Given the description of an element on the screen output the (x, y) to click on. 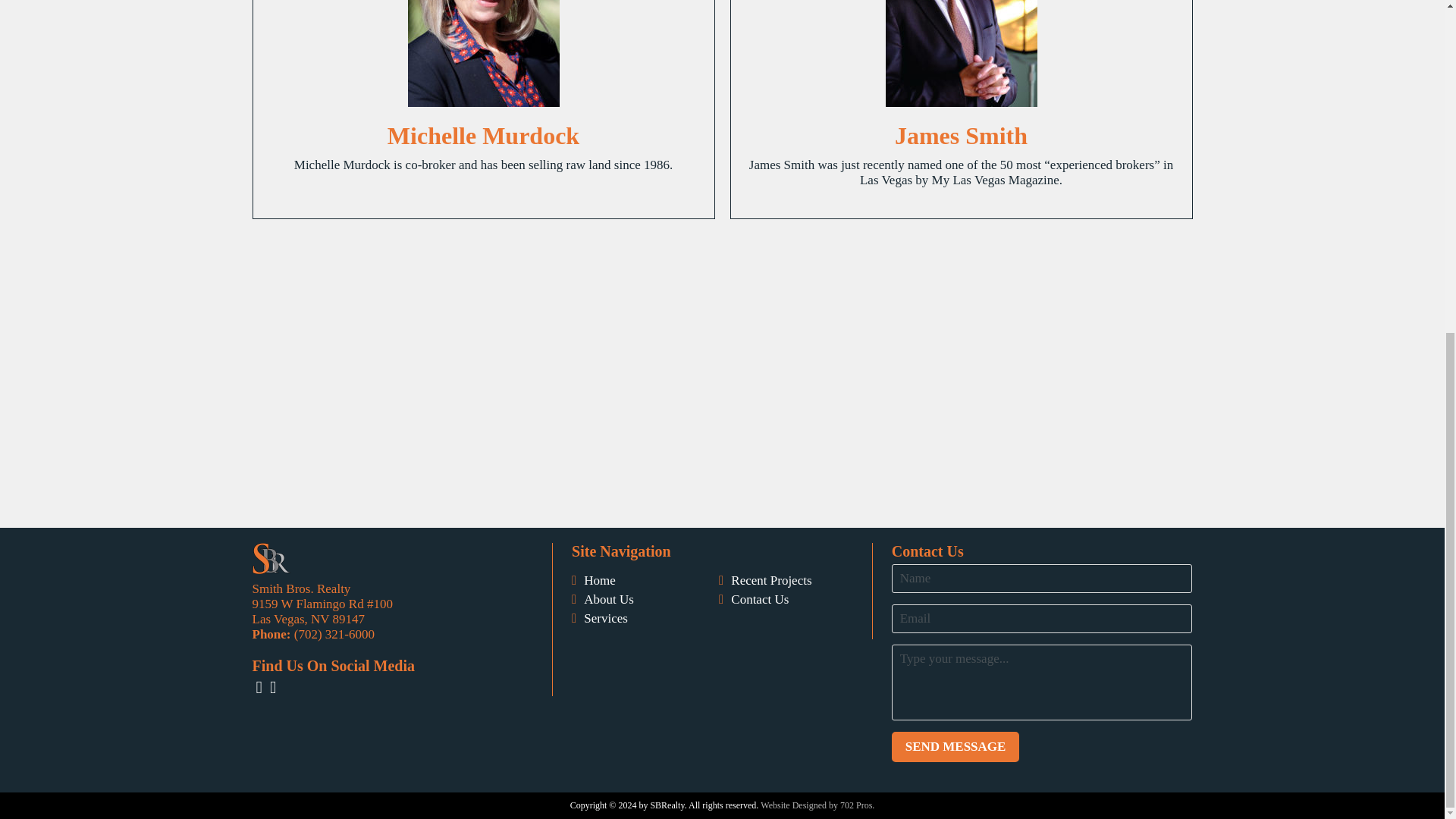
Send Message (955, 747)
Recent Projects (770, 580)
Services (605, 618)
Website Designed by 702 Pros. (817, 805)
Send Message (955, 747)
Home (599, 580)
Contact Us (759, 599)
About Us (608, 599)
